Given the description of an element on the screen output the (x, y) to click on. 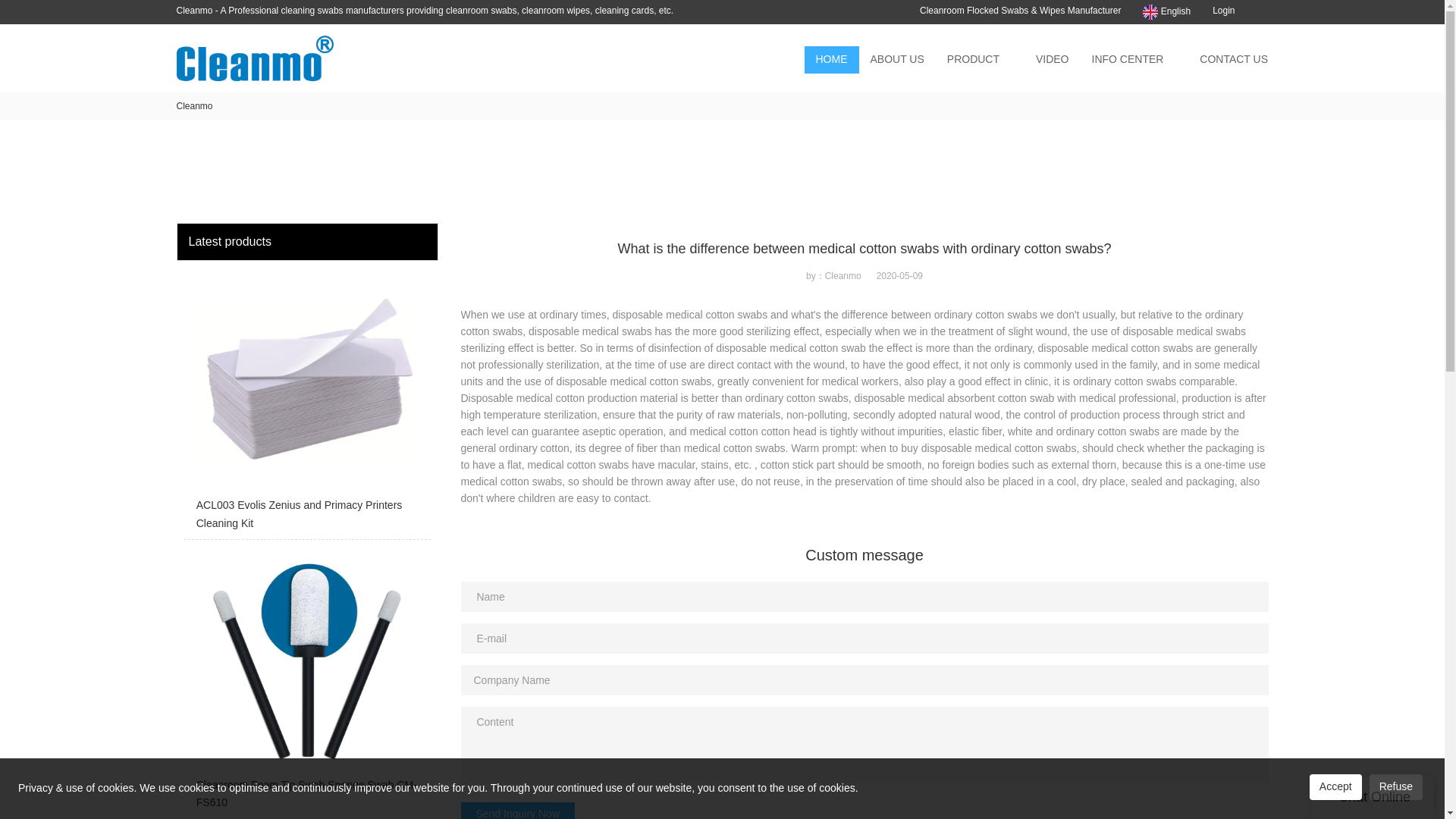
HOME (831, 59)
Login (1223, 9)
ABOUT US (896, 59)
PRODUCT (973, 59)
